Given the description of an element on the screen output the (x, y) to click on. 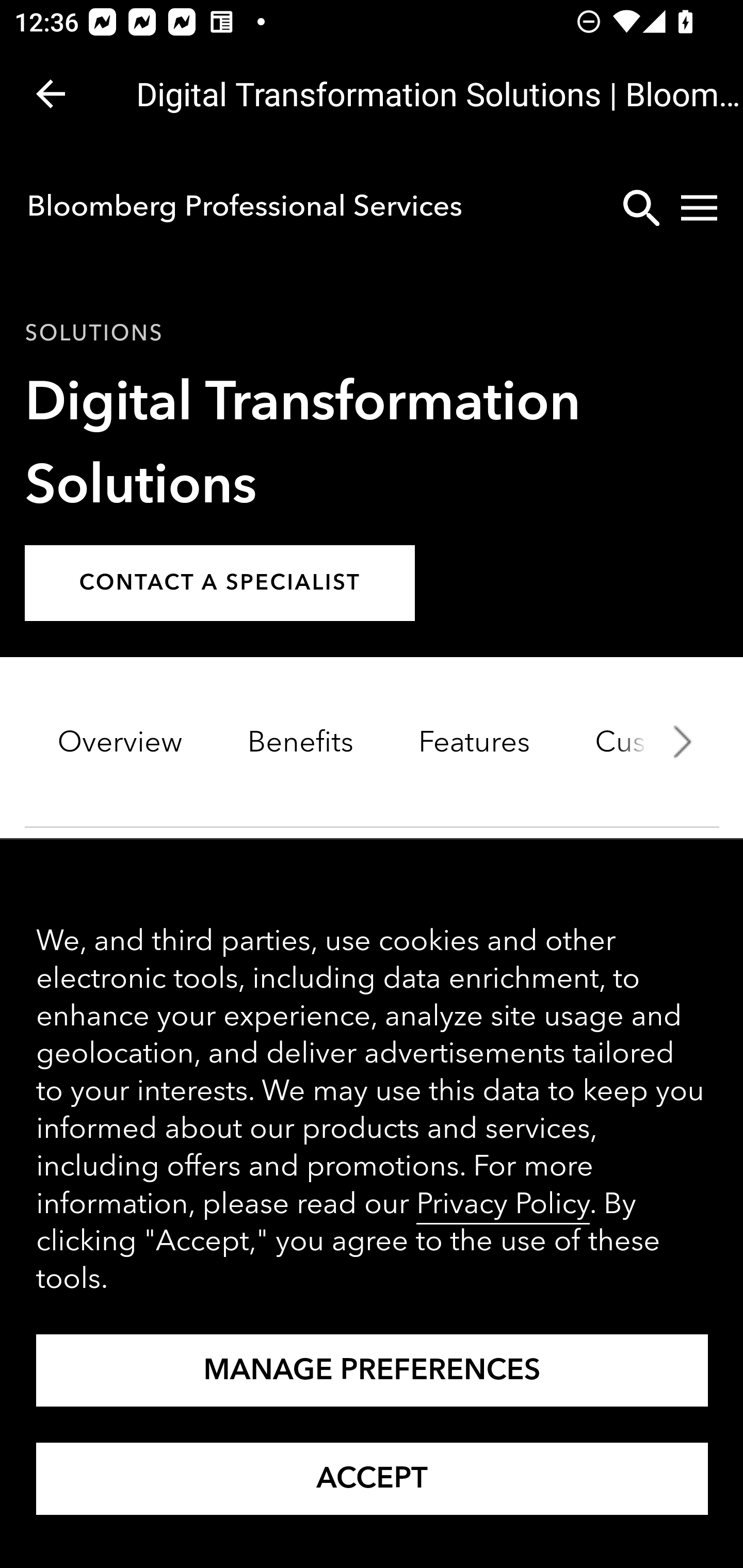
Navigate up (50, 93)
Open Search (641, 207)
MENU (698, 207)
Bloomberg Professional Services (244, 205)
CONTACT A SPECIALIST (219, 583)
Overview (119, 743)
Benefits (300, 743)
Features (473, 743)
Customization (652, 743)
Privacy Policy (502, 1204)
Open Cookie Preference Modal (372, 1371)
Accept cookies (372, 1479)
